Given the description of an element on the screen output the (x, y) to click on. 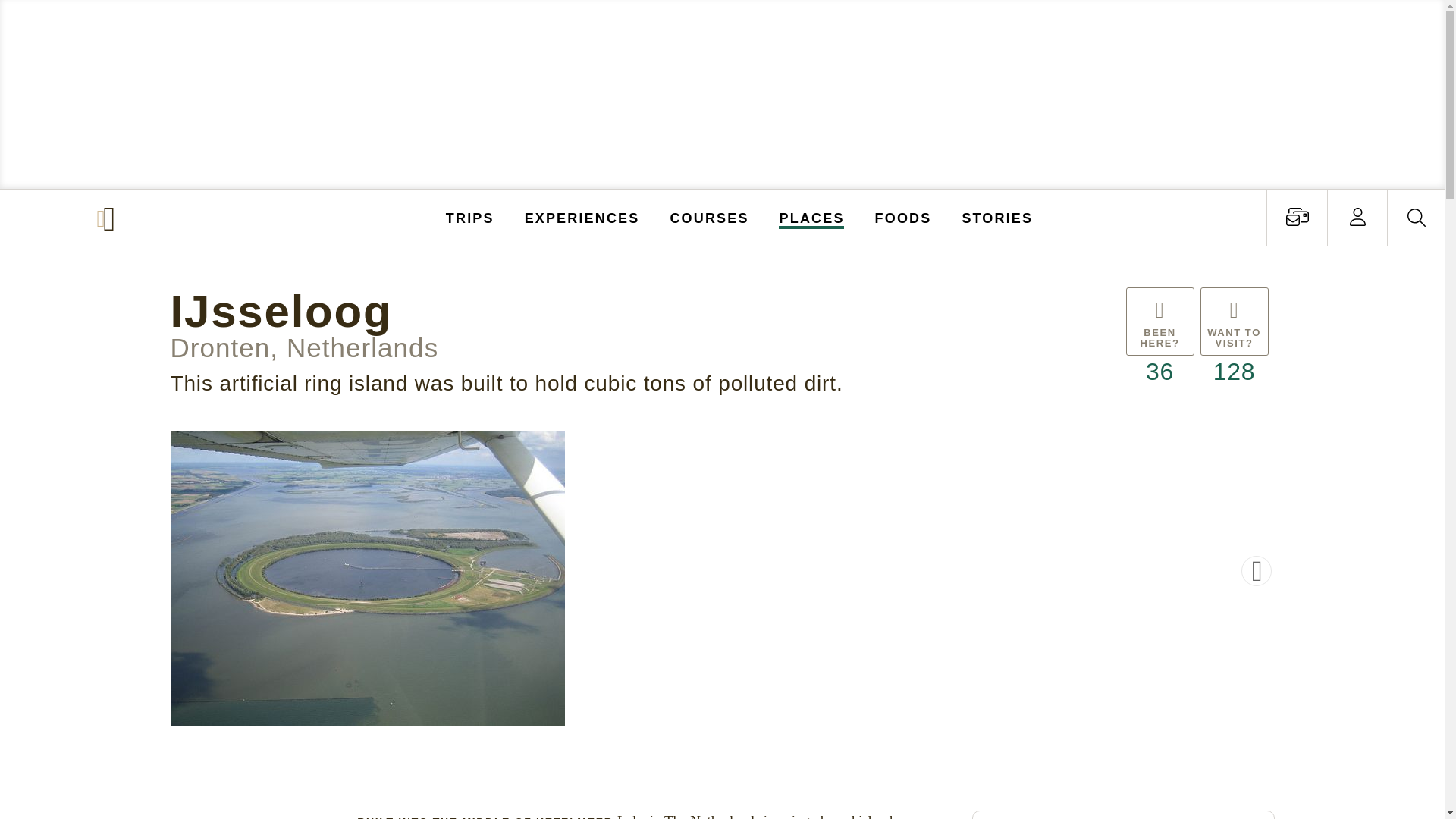
EXPERIENCES (582, 217)
PLACES (812, 217)
TRIPS (469, 217)
COURSES (707, 217)
